Given the description of an element on the screen output the (x, y) to click on. 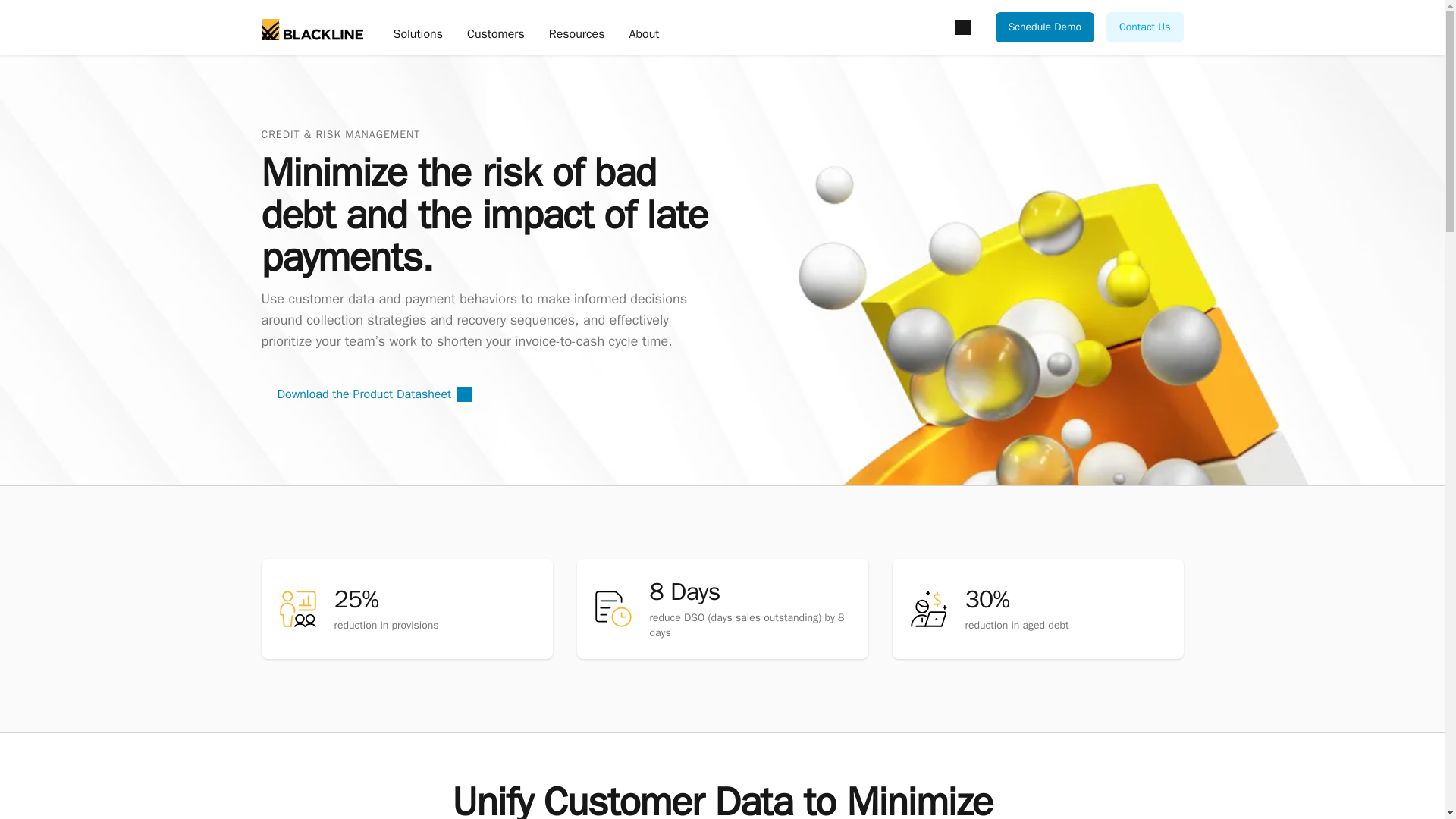
Schedule Demo (1044, 27)
Solutions (417, 34)
Customers (495, 34)
Resources (576, 34)
Contact Us (1144, 27)
Download the Product Datasheet (373, 393)
